Given the description of an element on the screen output the (x, y) to click on. 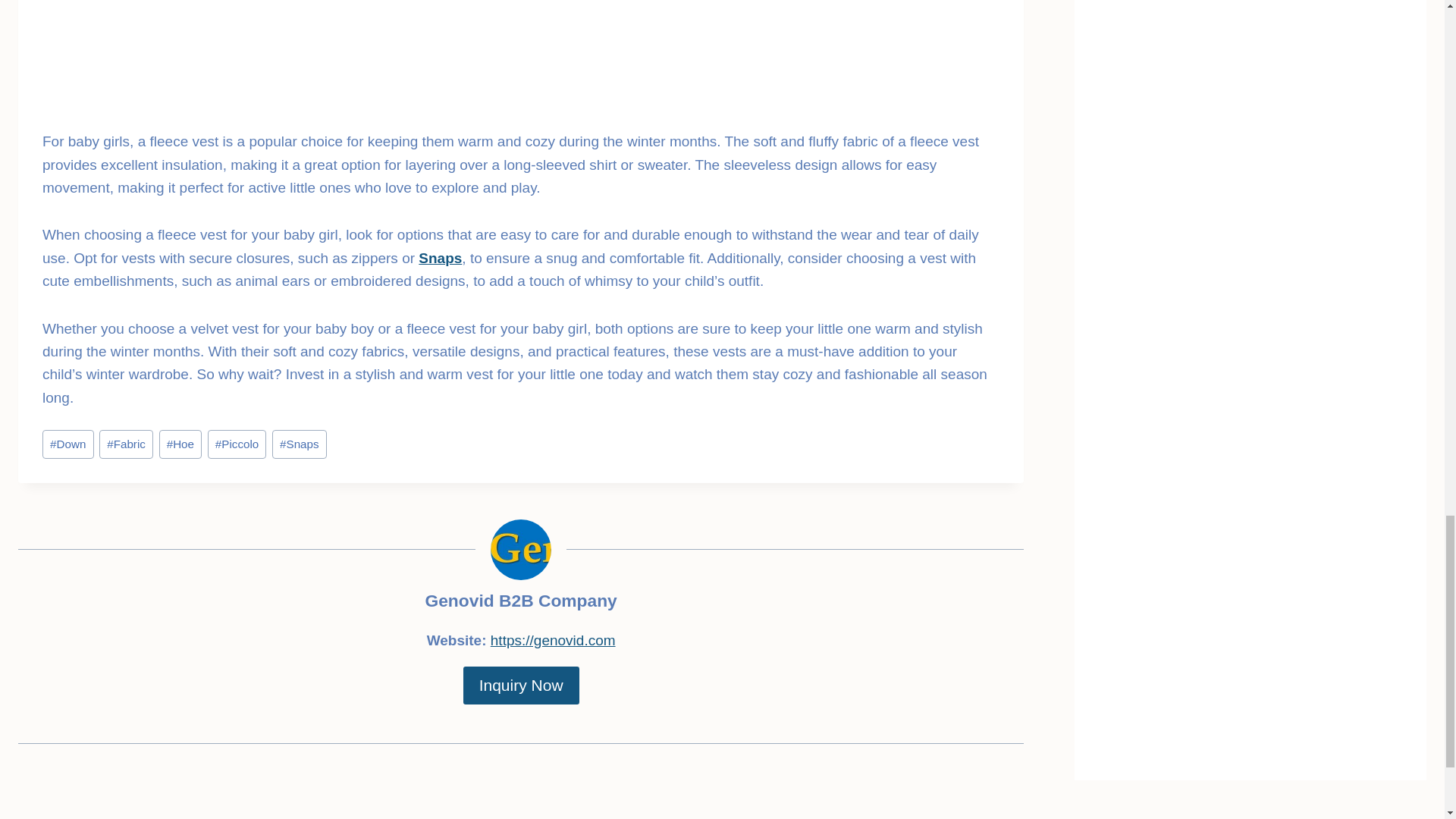
Piccolo (237, 443)
Fabric (125, 443)
Snaps (299, 443)
Snaps (440, 258)
Hoe (180, 443)
Down (68, 443)
